Given the description of an element on the screen output the (x, y) to click on. 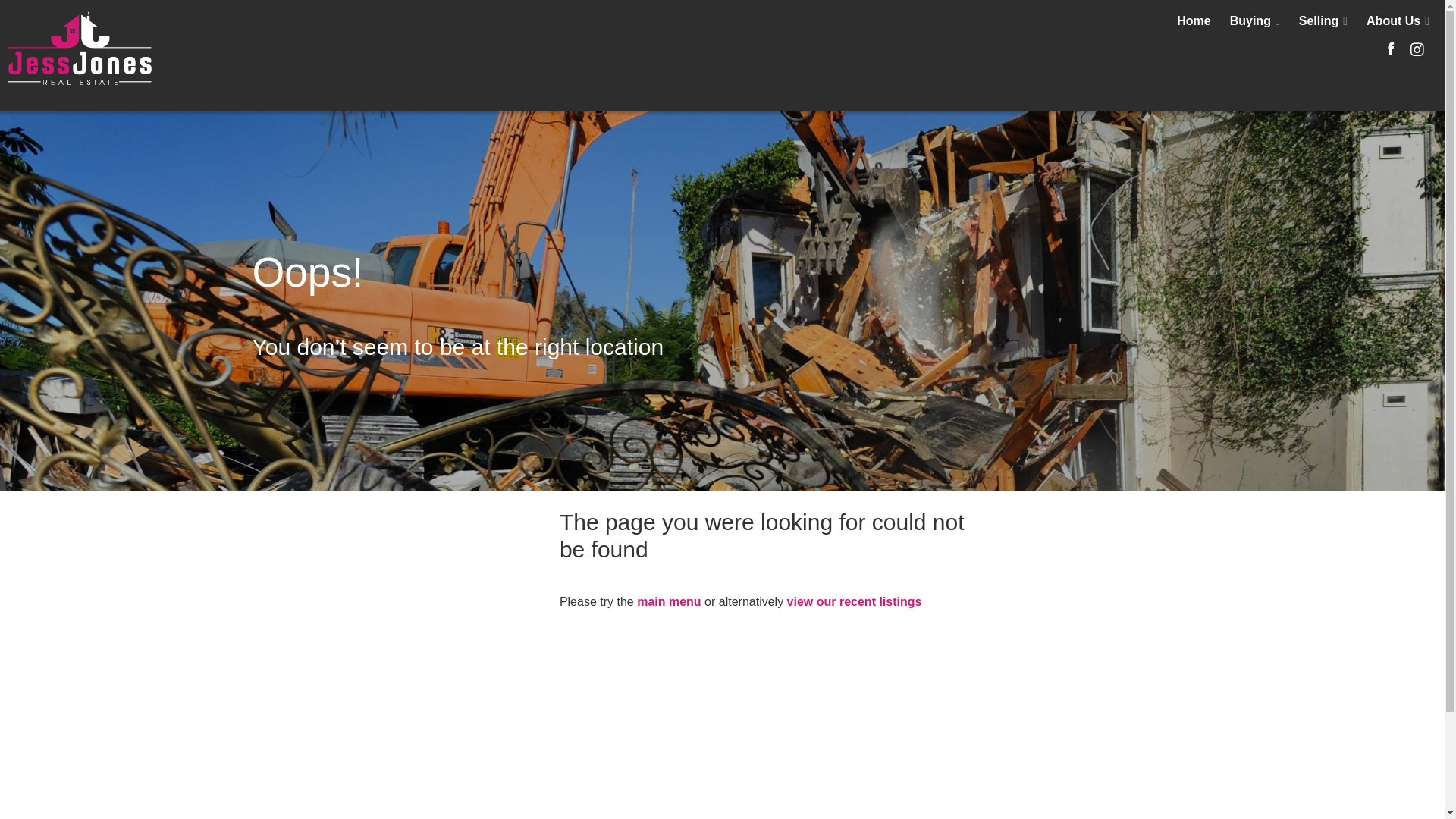
view our recent listings Element type: text (854, 601)
Home Element type: text (1193, 21)
main menu Element type: text (668, 601)
